Given the description of an element on the screen output the (x, y) to click on. 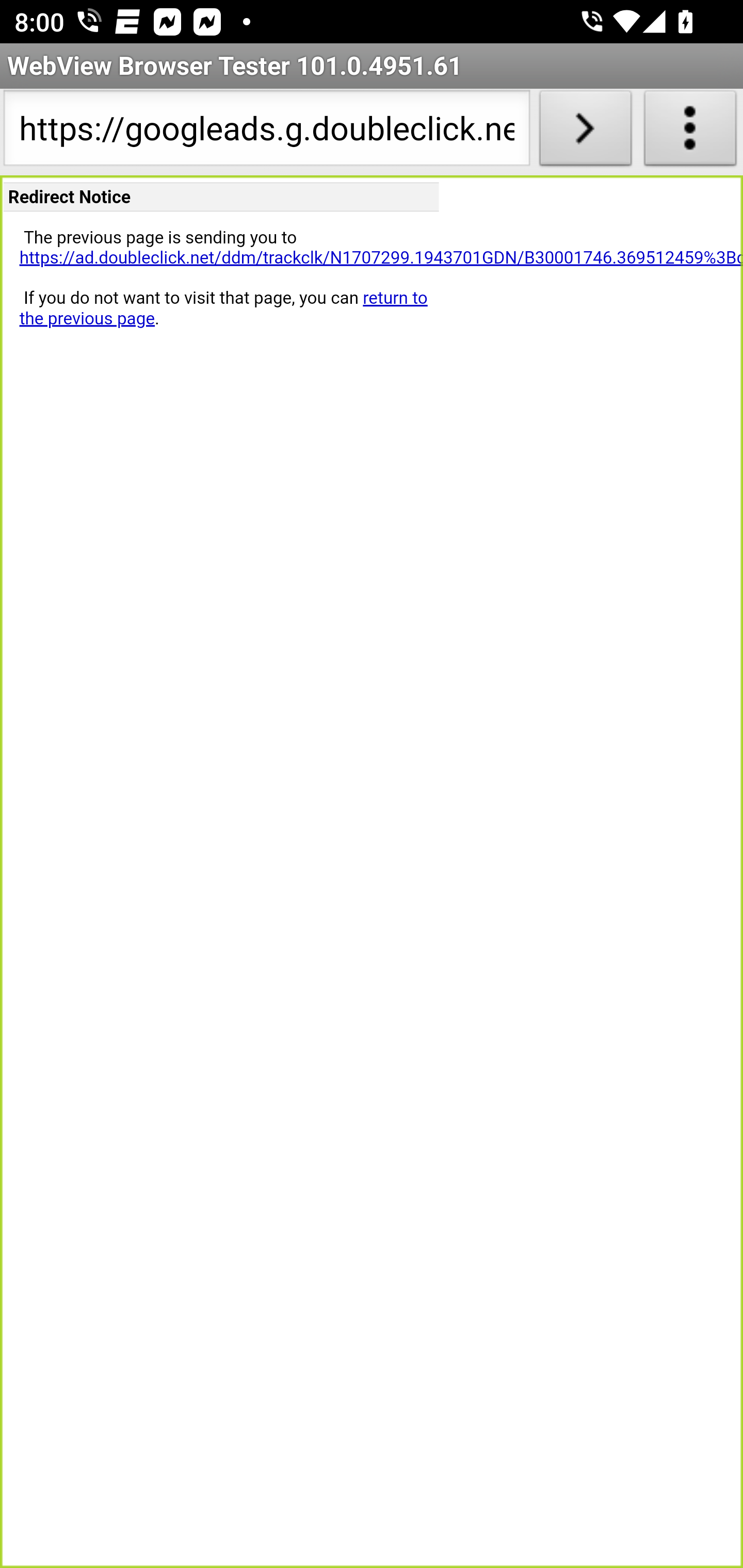
Load URL (585, 132)
About WebView (690, 132)
return to the previous page (222, 307)
